Given the description of an element on the screen output the (x, y) to click on. 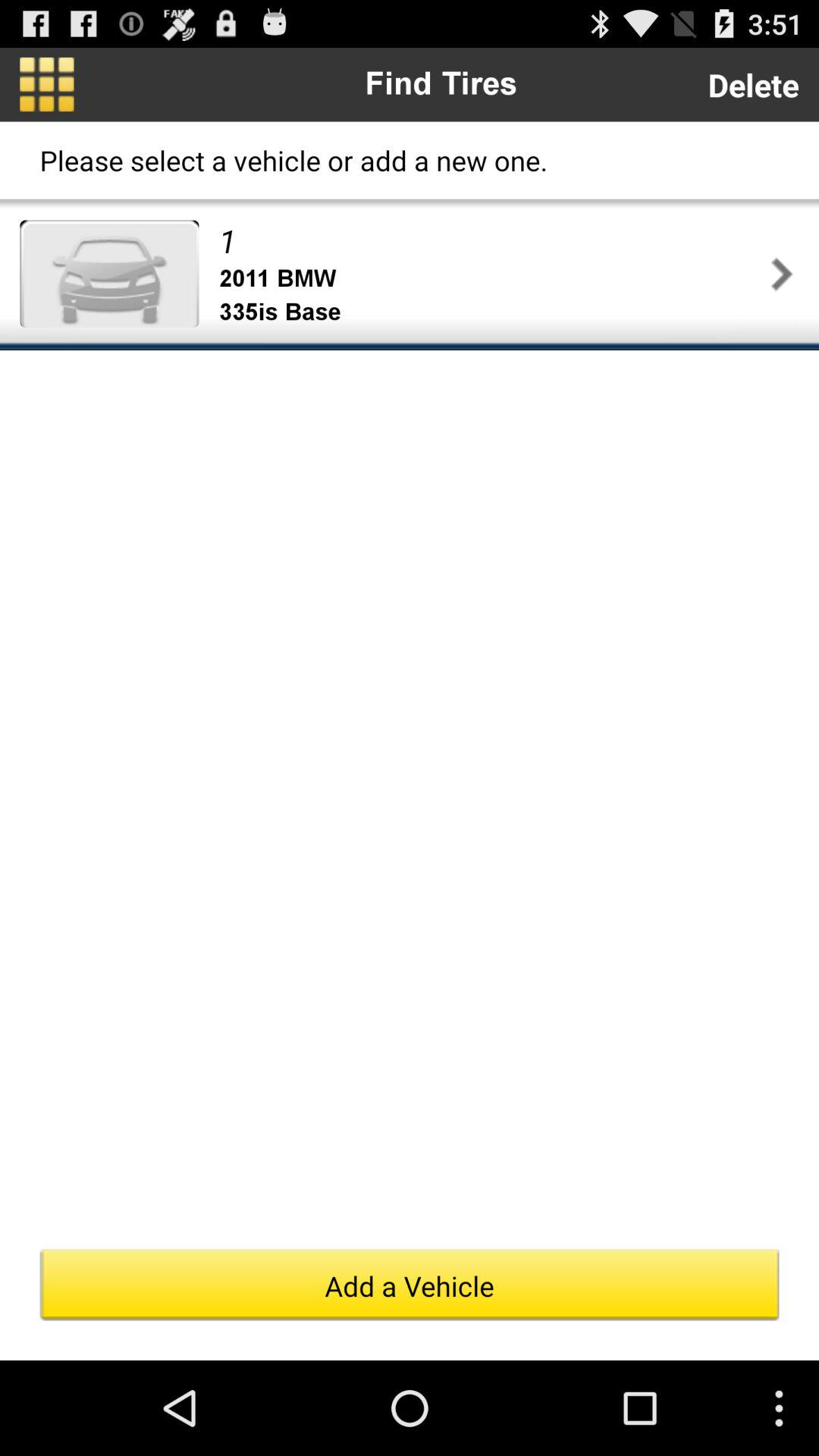
turn on the item above add a vehicle icon (781, 273)
